Given the description of an element on the screen output the (x, y) to click on. 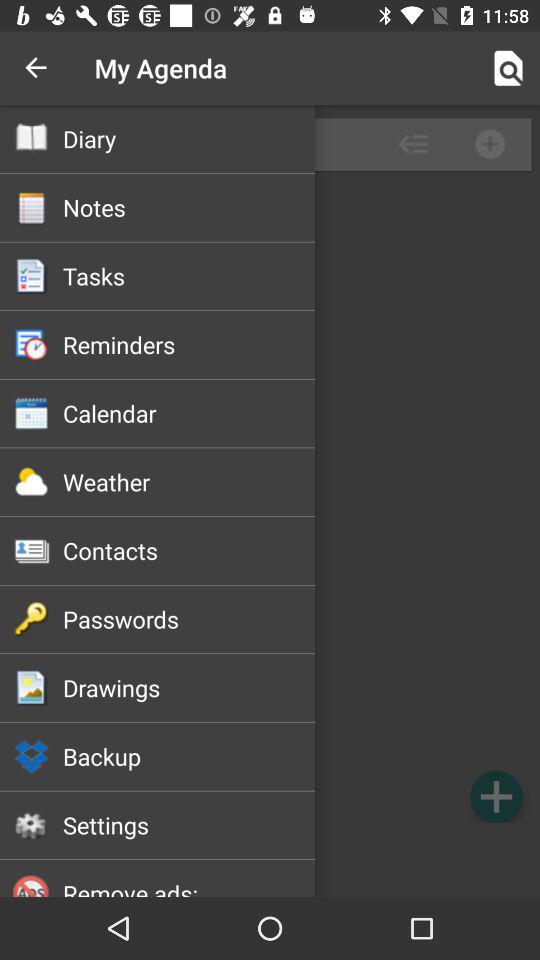
turn off the reminders item (188, 344)
